Given the description of an element on the screen output the (x, y) to click on. 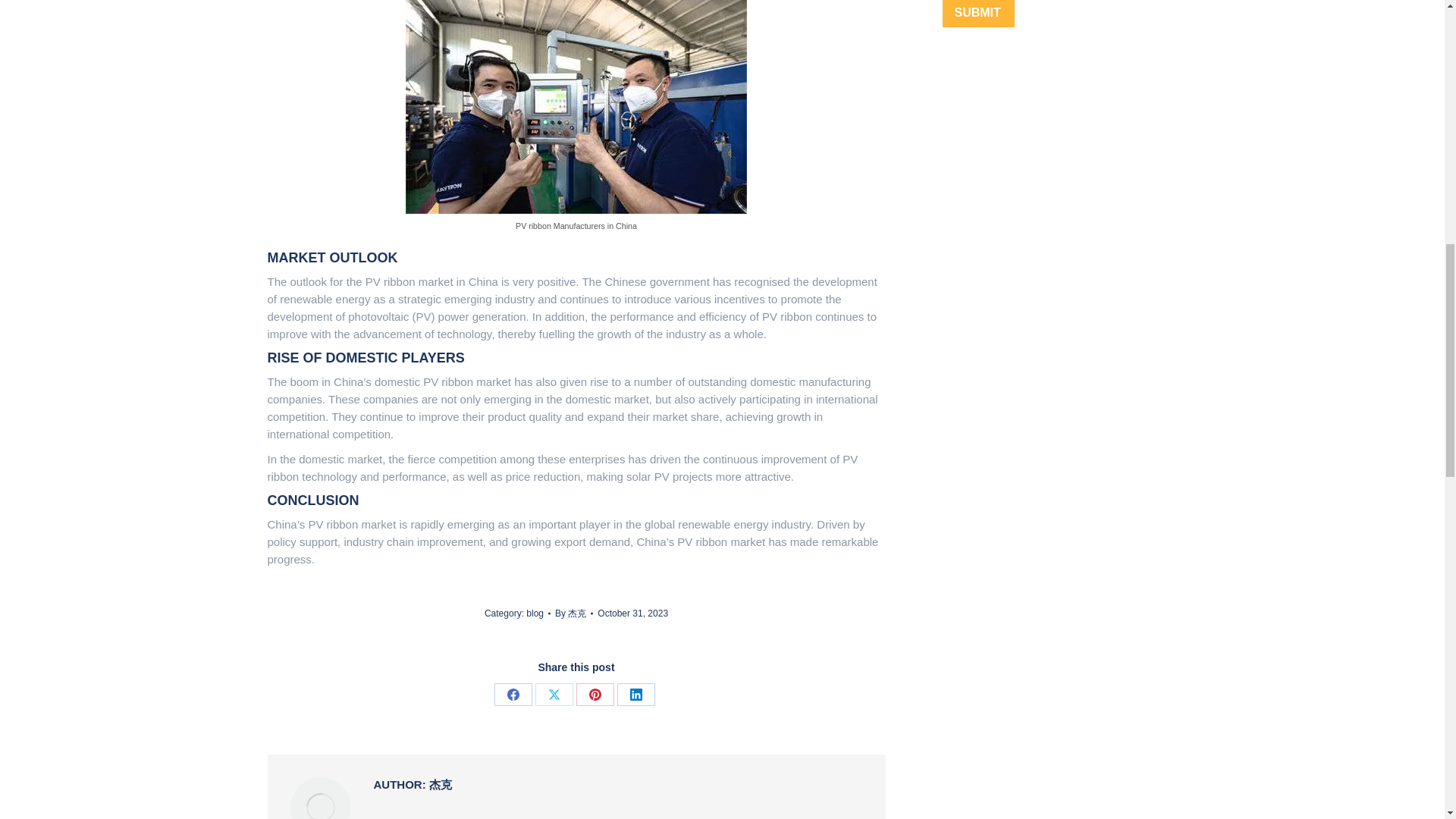
9:07 am (632, 613)
Facebook (513, 694)
X (554, 694)
Pinterest (595, 694)
Submit (977, 13)
LinkedIn (636, 694)
